Given the description of an element on the screen output the (x, y) to click on. 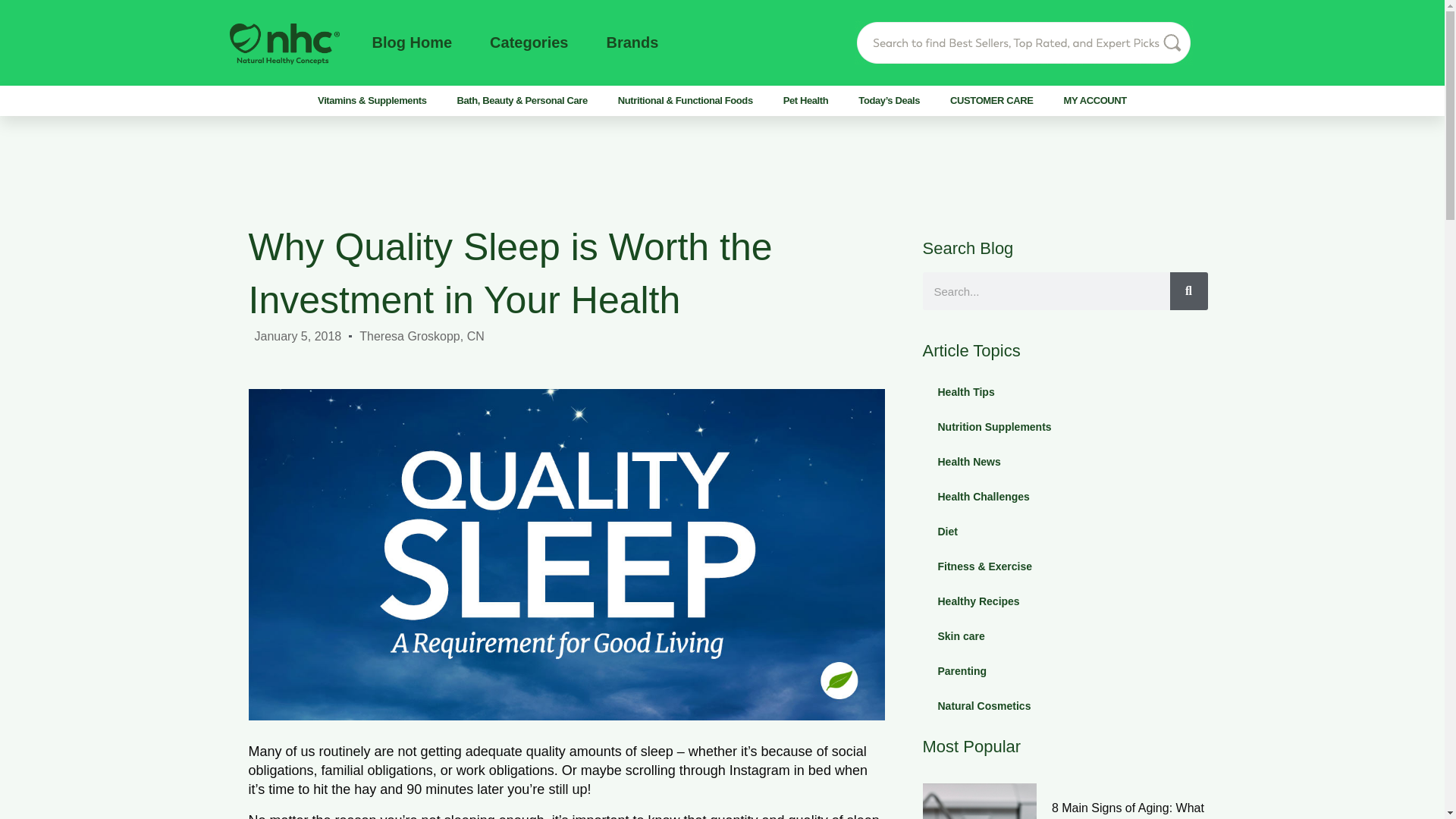
Theresa Groskopp, CN (421, 335)
Categories (528, 42)
January 5, 2018 (298, 335)
MY ACCOUNT (1094, 100)
Blog Home (411, 42)
Pet Health (806, 100)
CUSTOMER CARE (991, 100)
